Given the description of an element on the screen output the (x, y) to click on. 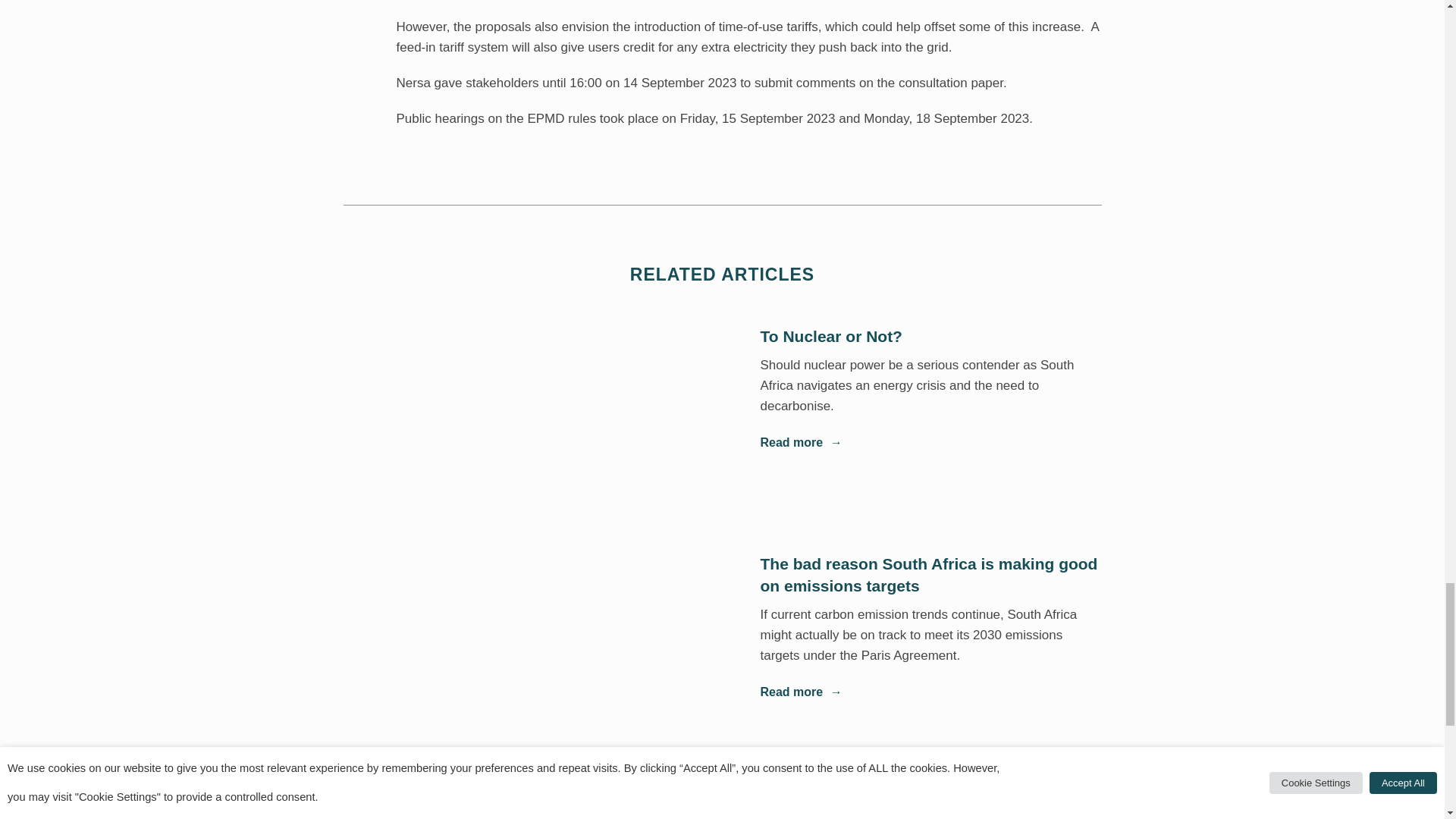
To Nuclear or Not? (930, 336)
